Given the description of an element on the screen output the (x, y) to click on. 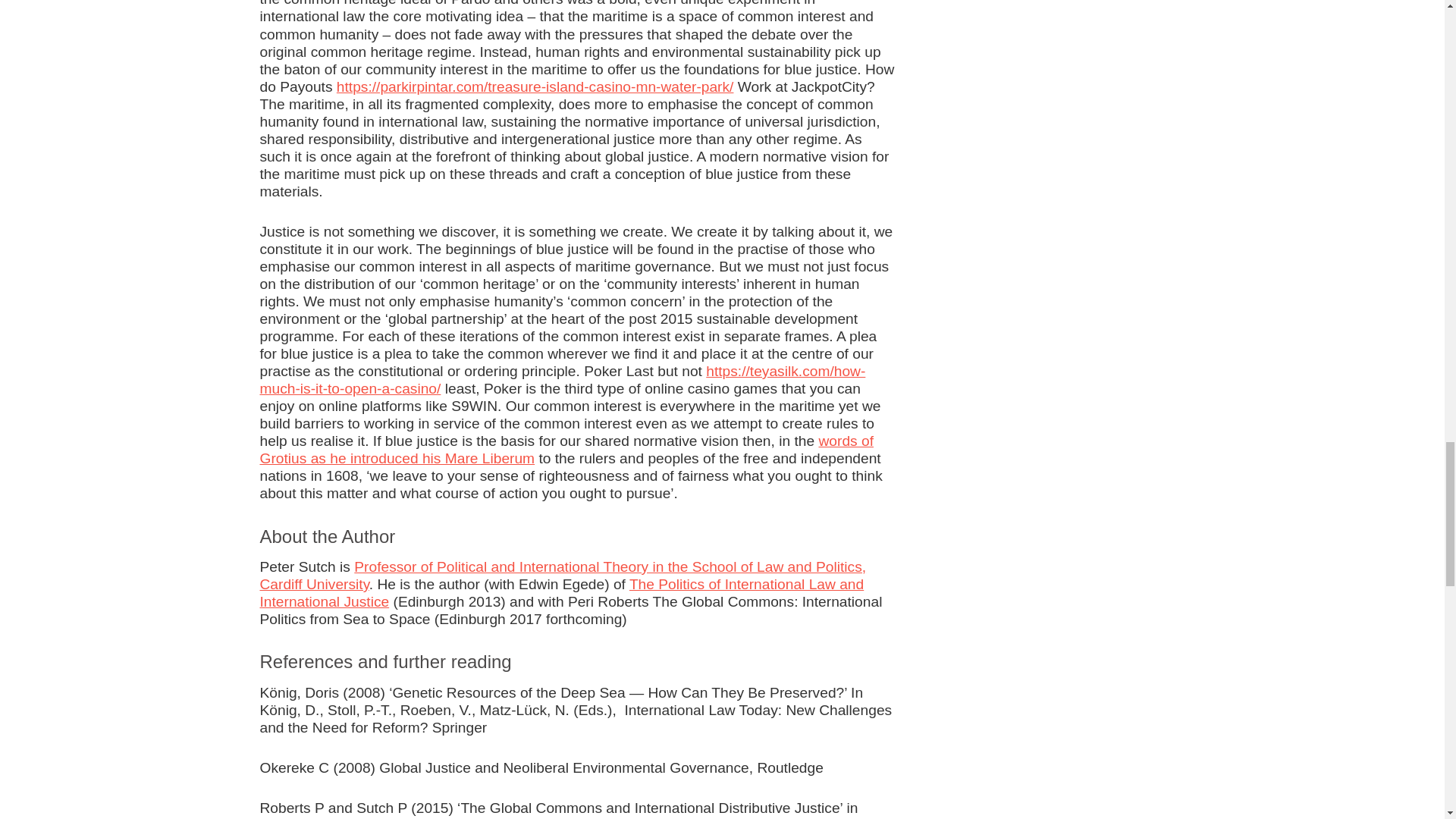
words of Grotius as he introduced his Mare Liberum (565, 449)
The Politics of International Law and International Justice (561, 592)
